Given the description of an element on the screen output the (x, y) to click on. 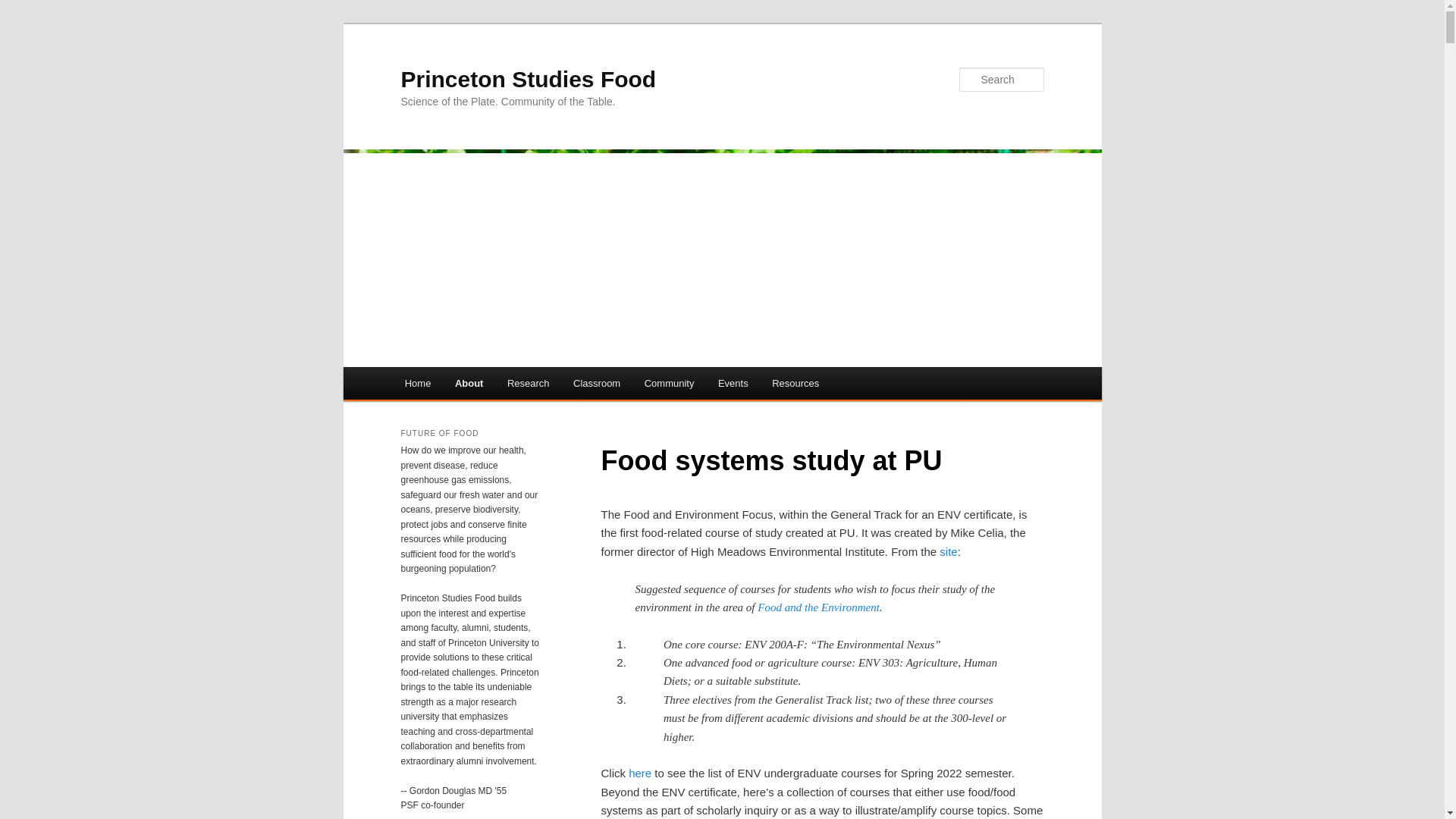
Research (527, 382)
Princeton Studies Food (528, 78)
Search (24, 8)
Home (417, 382)
Classroom (595, 382)
Princeton Studies Food (528, 78)
About (468, 382)
Community (668, 382)
